Given the description of an element on the screen output the (x, y) to click on. 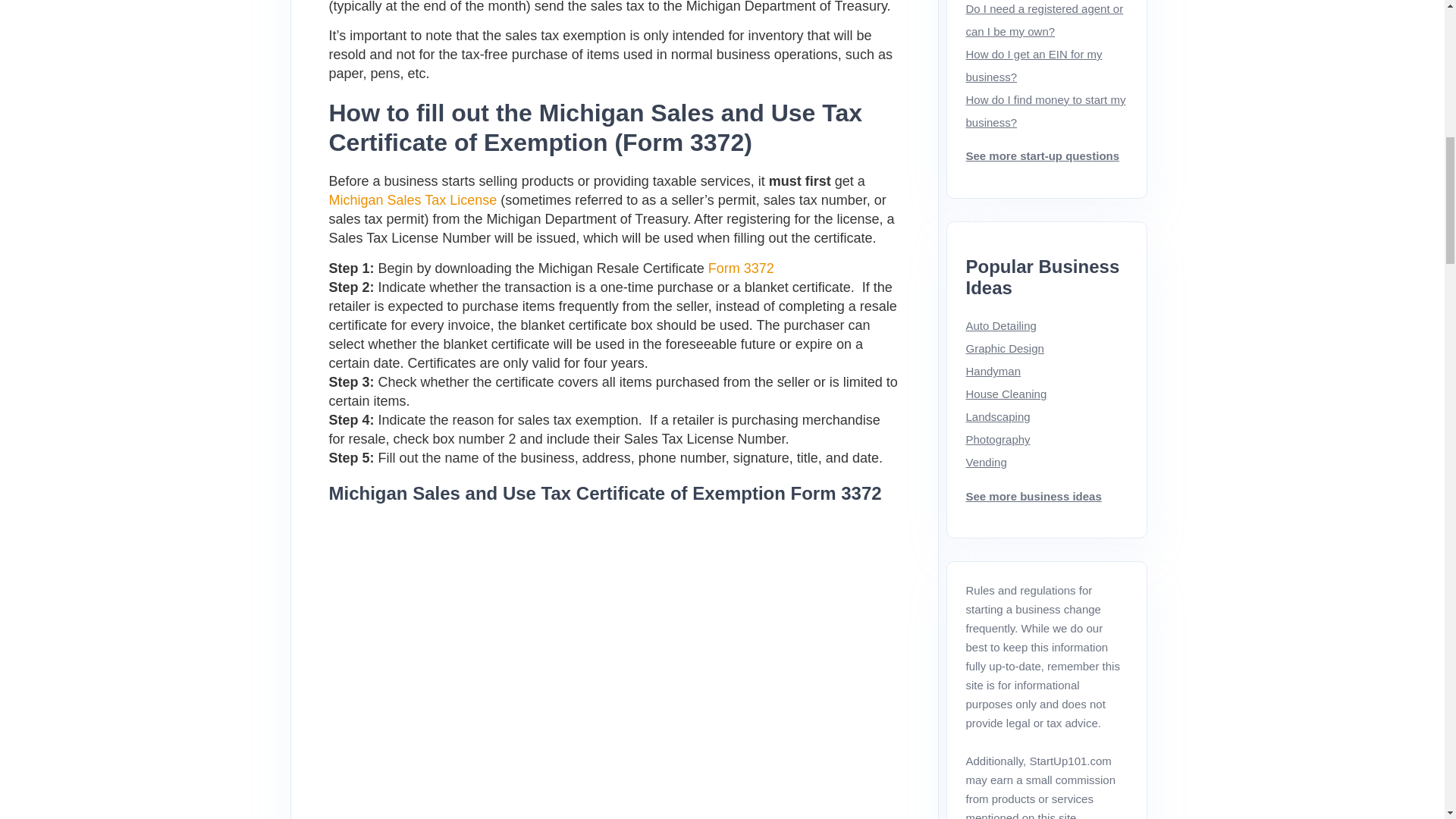
Michigan Sales Tax License (413, 200)
Form 3372 (740, 268)
